Given the description of an element on the screen output the (x, y) to click on. 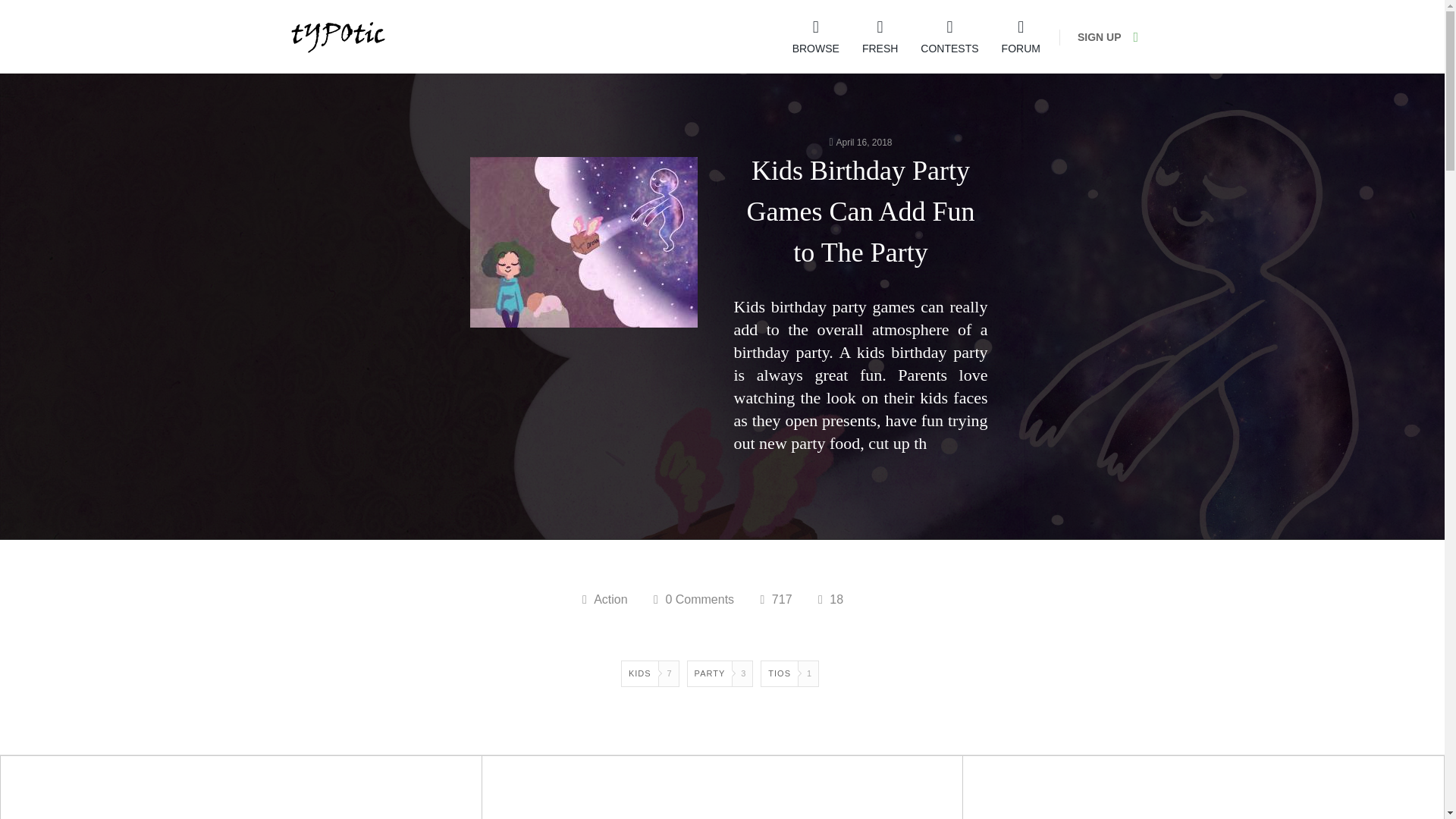
BROWSE (815, 36)
Log in (1141, 37)
Browse (815, 36)
0 Comments (693, 599)
SIGN UP (1099, 37)
Typotic (337, 36)
Sign up (1099, 37)
